Given the description of an element on the screen output the (x, y) to click on. 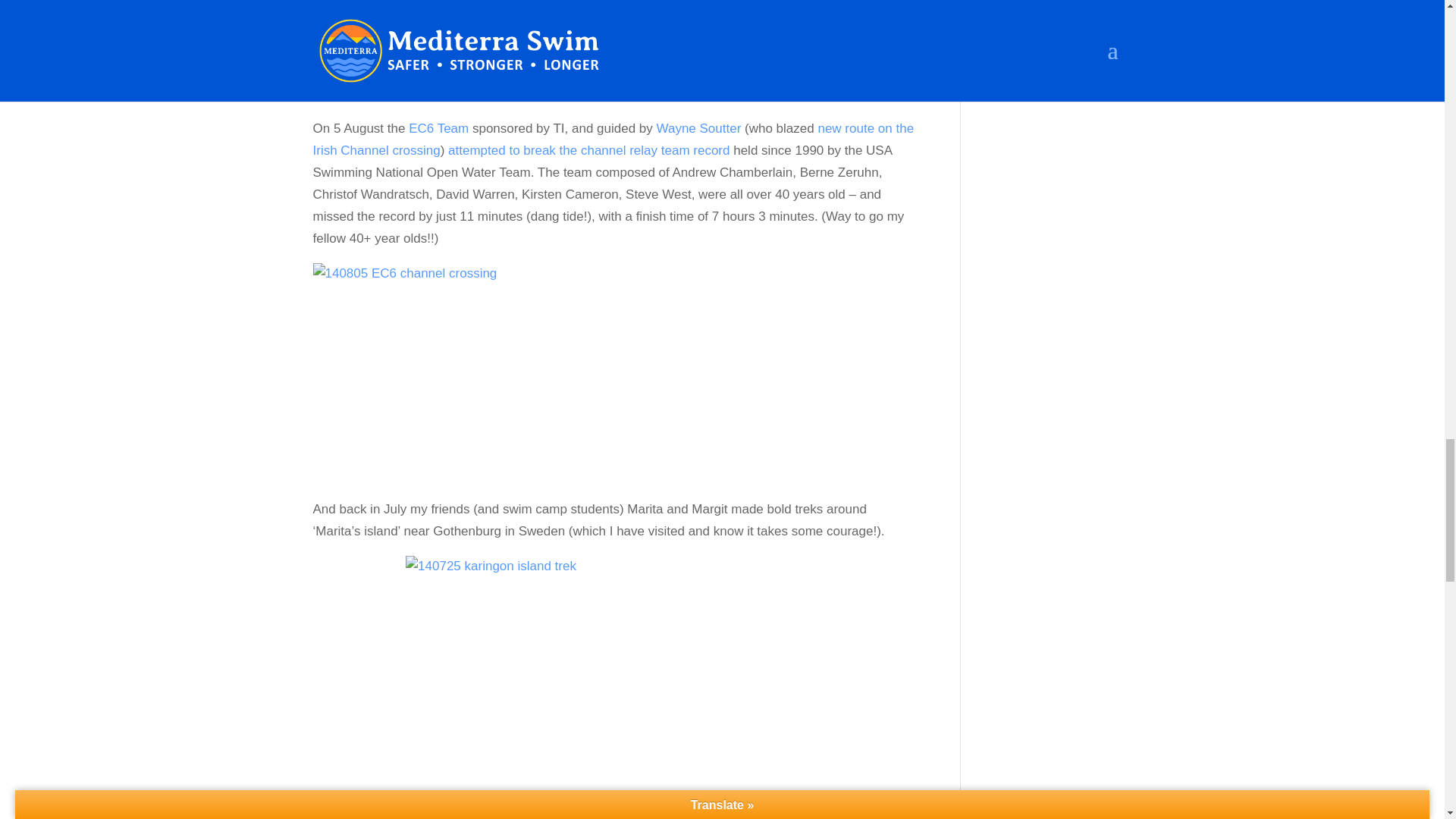
Lennart Larsson (695, 72)
EC6 Team (438, 128)
EC6 on Facebook (438, 128)
Asa Skanheden on Facebook (515, 72)
Lennart Larsson on Facebook (695, 72)
Wayne Soutter on Facebook (698, 128)
Wayne Soutter (698, 128)
new route on the Irish Channel crossing (613, 139)
Asa Skanheden (515, 72)
attempted to break the channel relay team record (588, 150)
